Given the description of an element on the screen output the (x, y) to click on. 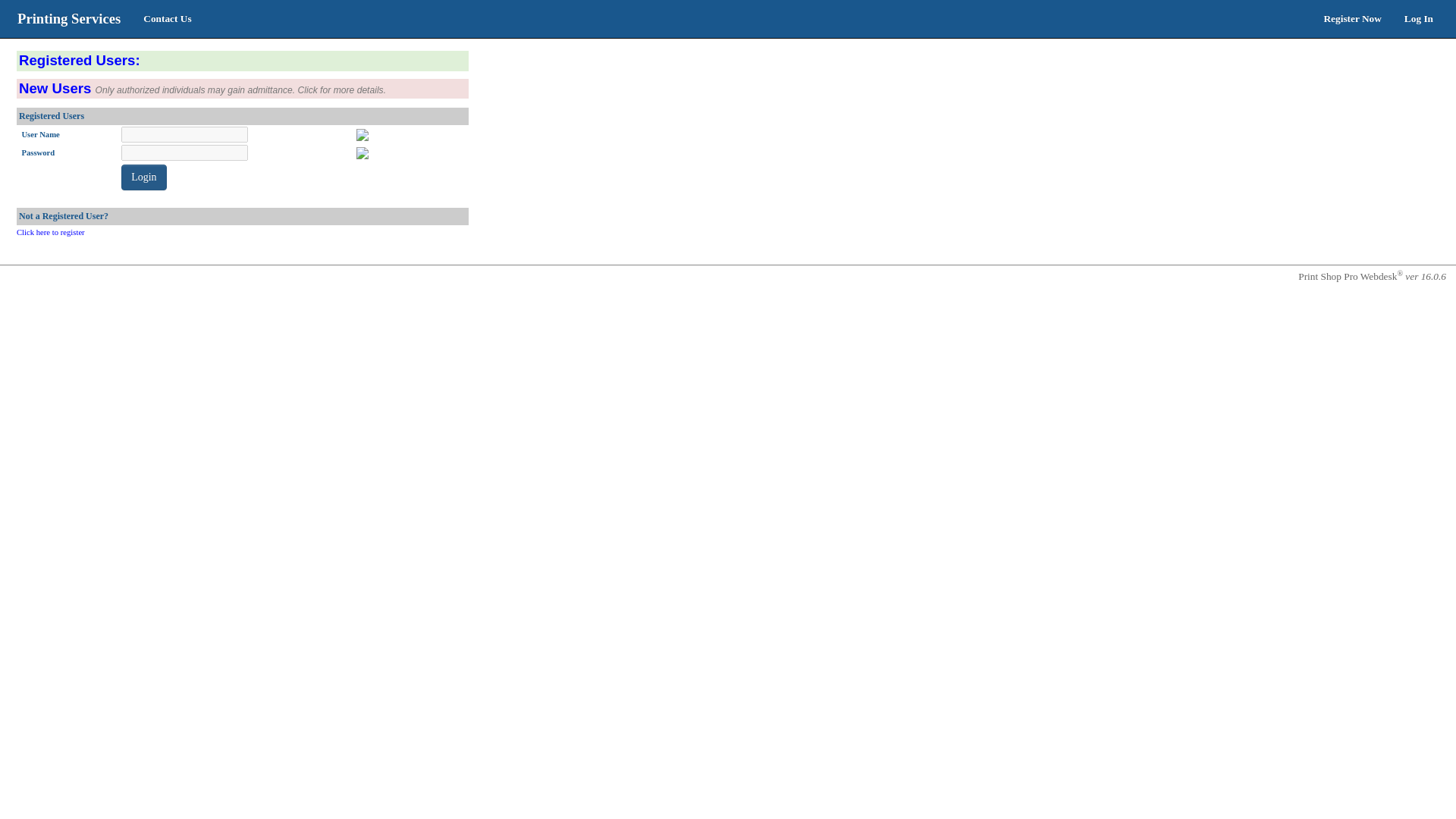
Printing Services (68, 18)
Register Now (1351, 18)
Registered Users: (78, 60)
Contact Us (167, 18)
Log In (1418, 18)
Login (142, 177)
Click here to register (50, 232)
